Given the description of an element on the screen output the (x, y) to click on. 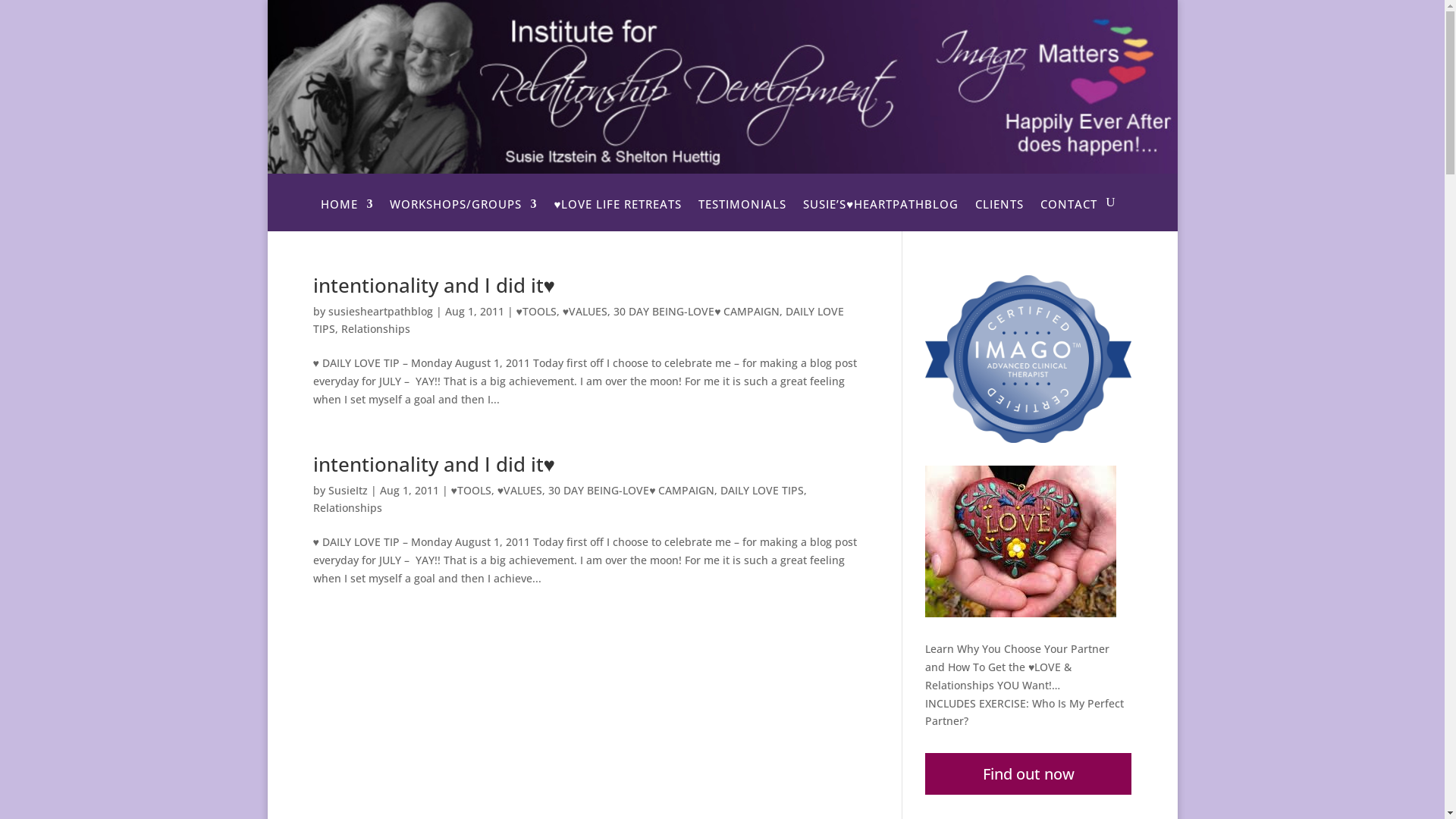
DAILY LOVE TIPS Element type: text (578, 320)
CONTACT Element type: text (1068, 214)
CLIENTS Element type: text (999, 214)
Institute for Relationship Element type: hover (721, 86)
Relationships Element type: text (346, 507)
TESTIMONIALS Element type: text (742, 214)
SusieItz Element type: text (347, 490)
WORKSHOPS/GROUPS Element type: text (462, 214)
DAILY LOVE TIPS Element type: text (761, 490)
Relationships Element type: text (375, 328)
susiesheartpathblog Element type: text (379, 311)
HOME Element type: text (346, 214)
Find out now Element type: text (1028, 773)
